Given the description of an element on the screen output the (x, y) to click on. 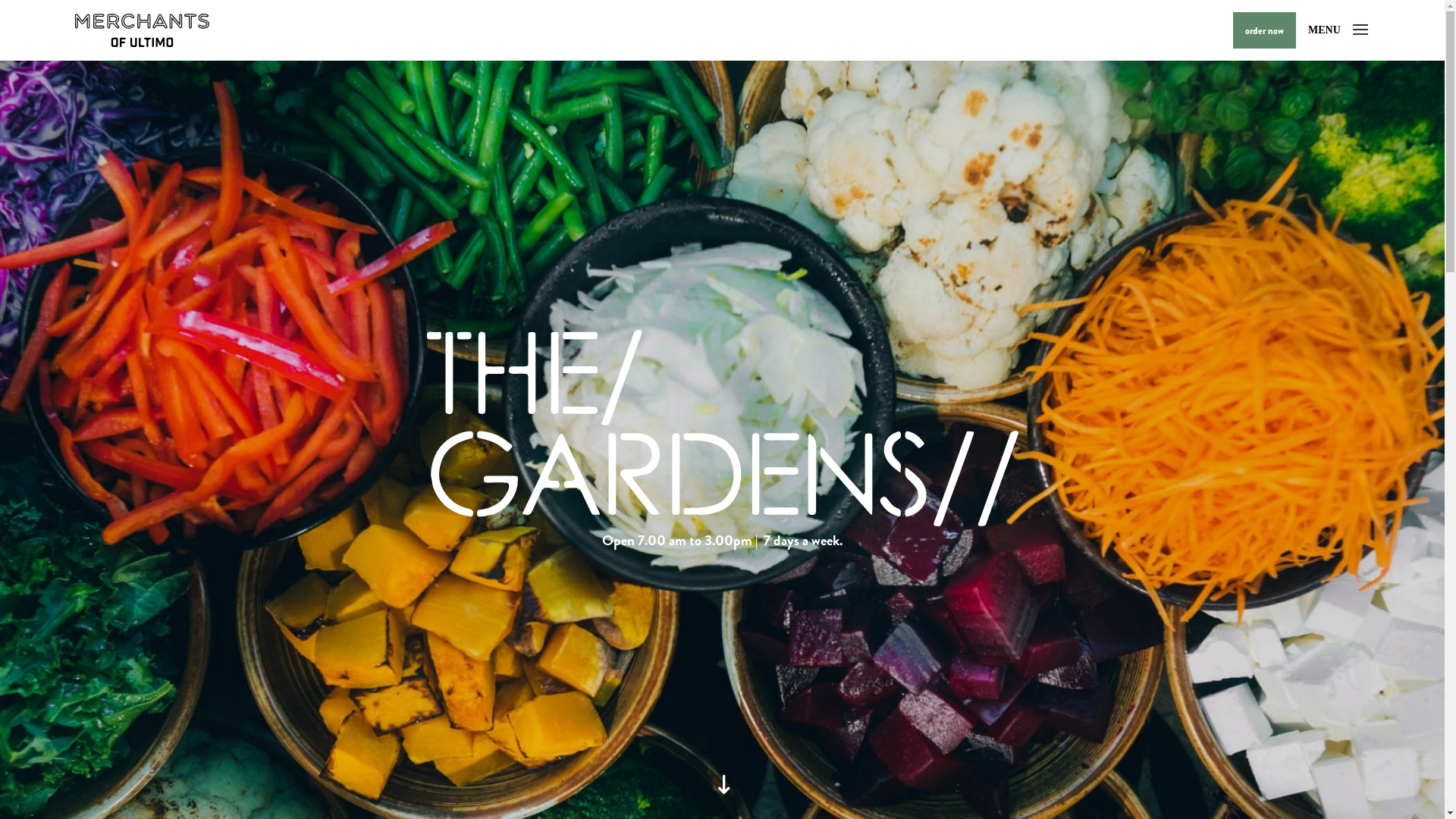
" Element type: text (721, 787)
order now Element type: text (1264, 30)
